Given the description of an element on the screen output the (x, y) to click on. 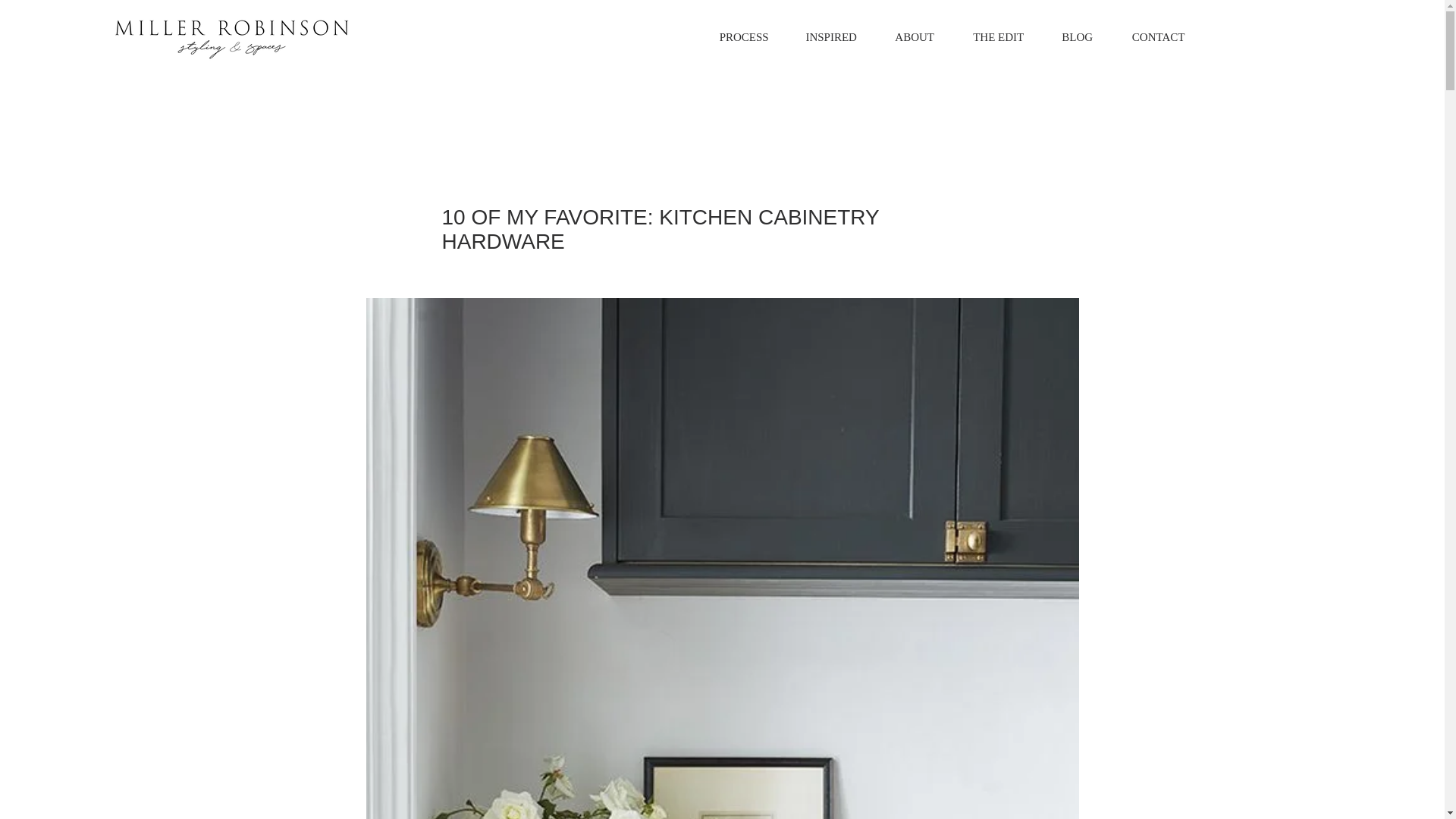
CONTACT (1158, 37)
ABOUT (914, 37)
PROCESS (744, 37)
THE EDIT (998, 37)
BLOG (1077, 37)
INSPIRED (831, 37)
